Given the description of an element on the screen output the (x, y) to click on. 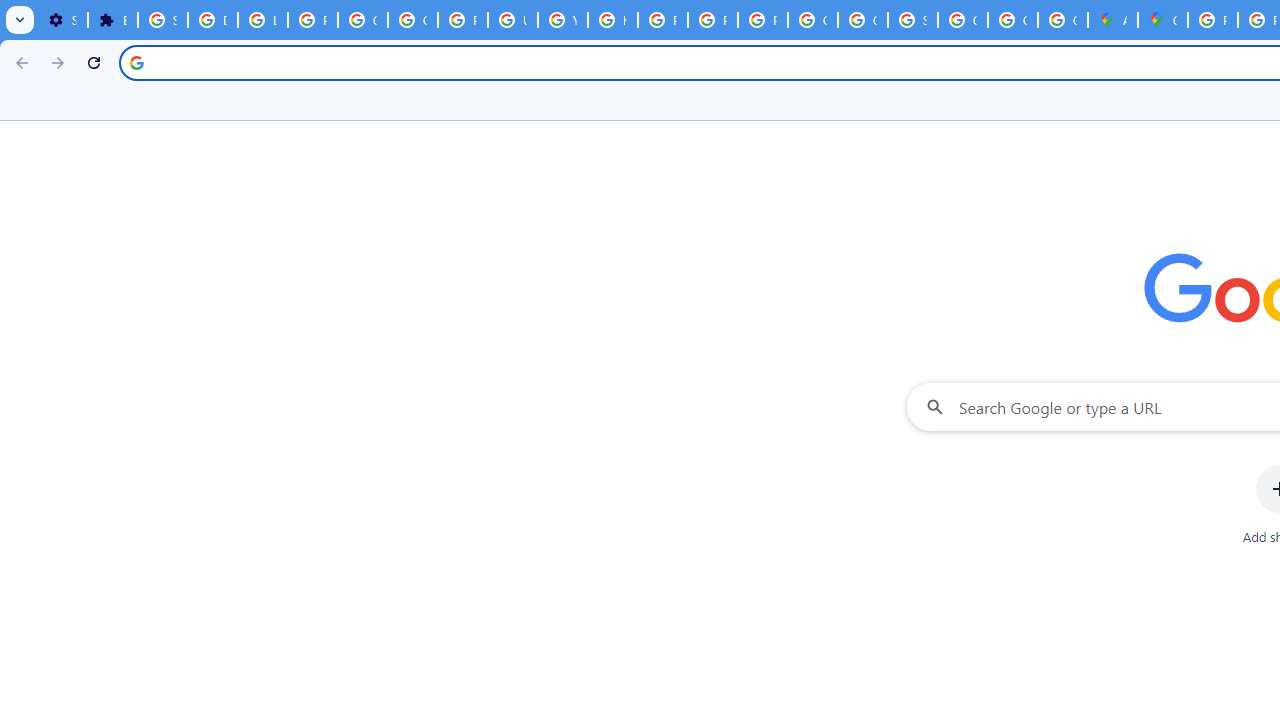
Settings - On startup (62, 20)
